Given the description of an element on the screen output the (x, y) to click on. 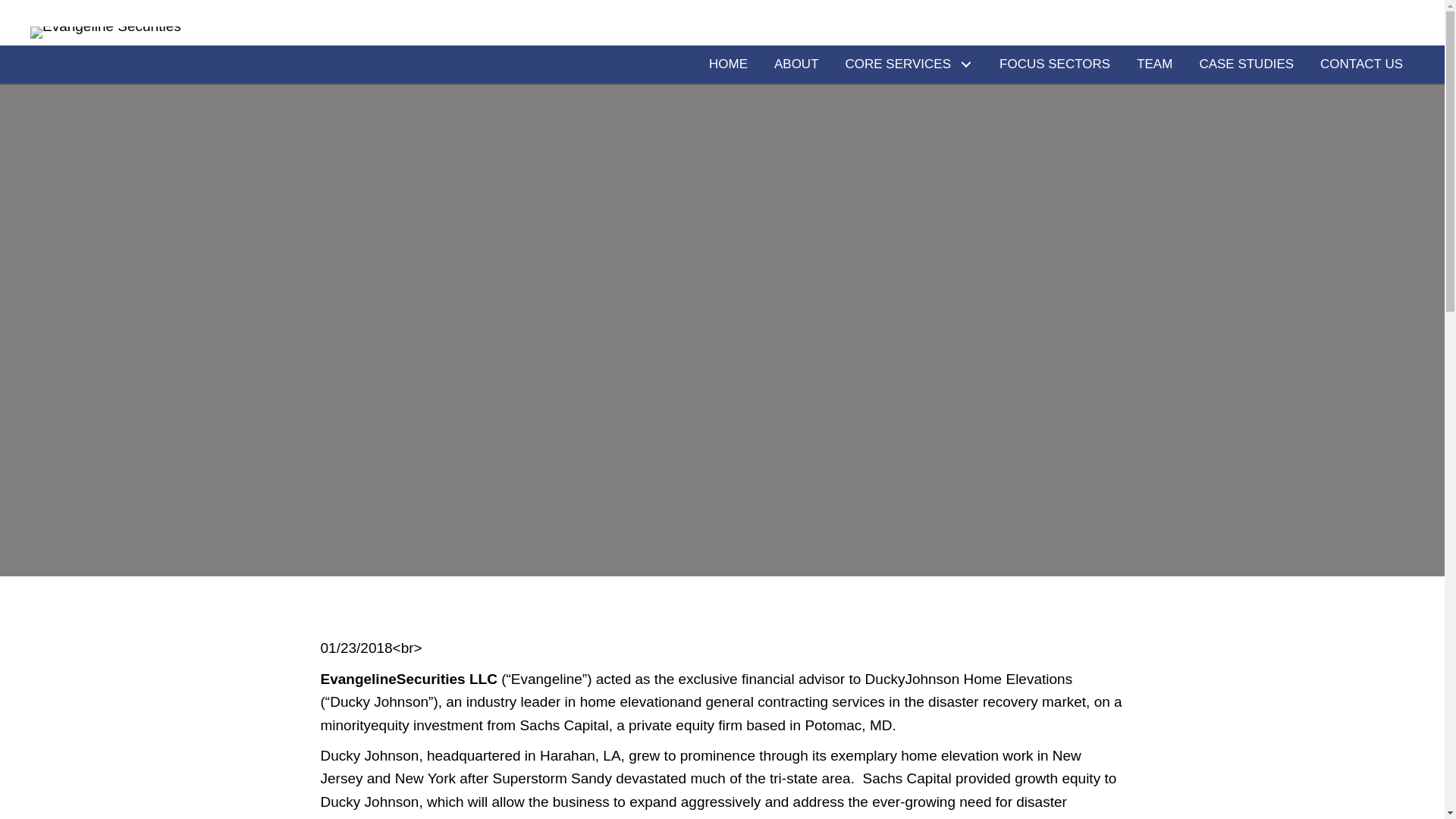
TEAM (1154, 64)
HOME (727, 64)
FOCUS SECTORS (1054, 64)
CORE SERVICES (909, 64)
ABOUT (795, 64)
logo (105, 32)
CONTACT US (1360, 64)
CASE STUDIES (1246, 64)
